Given the description of an element on the screen output the (x, y) to click on. 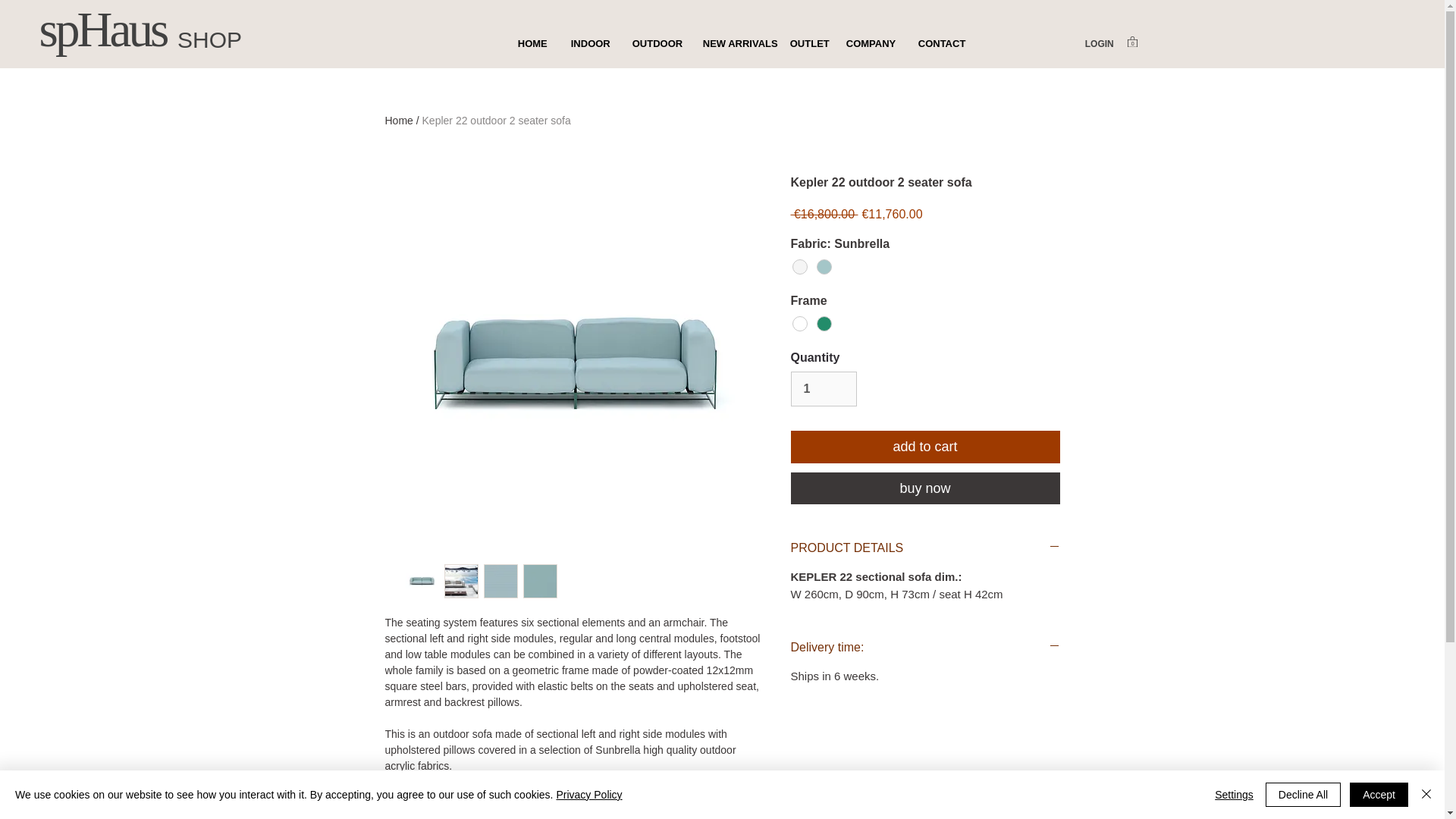
COMPANY (869, 44)
CONTACT (940, 44)
HOME (532, 44)
Privacy Policy (588, 794)
spHaus (103, 29)
buy now (924, 488)
NEW ARRIVALS (733, 44)
1 (823, 388)
add to cart (924, 446)
Home (399, 120)
Accept (1378, 794)
Kepler 22 outdoor 2 seater sofa (496, 120)
LOGIN (1099, 44)
OUTDOOR (655, 44)
PRODUCT DETAILS (924, 548)
